Given the description of an element on the screen output the (x, y) to click on. 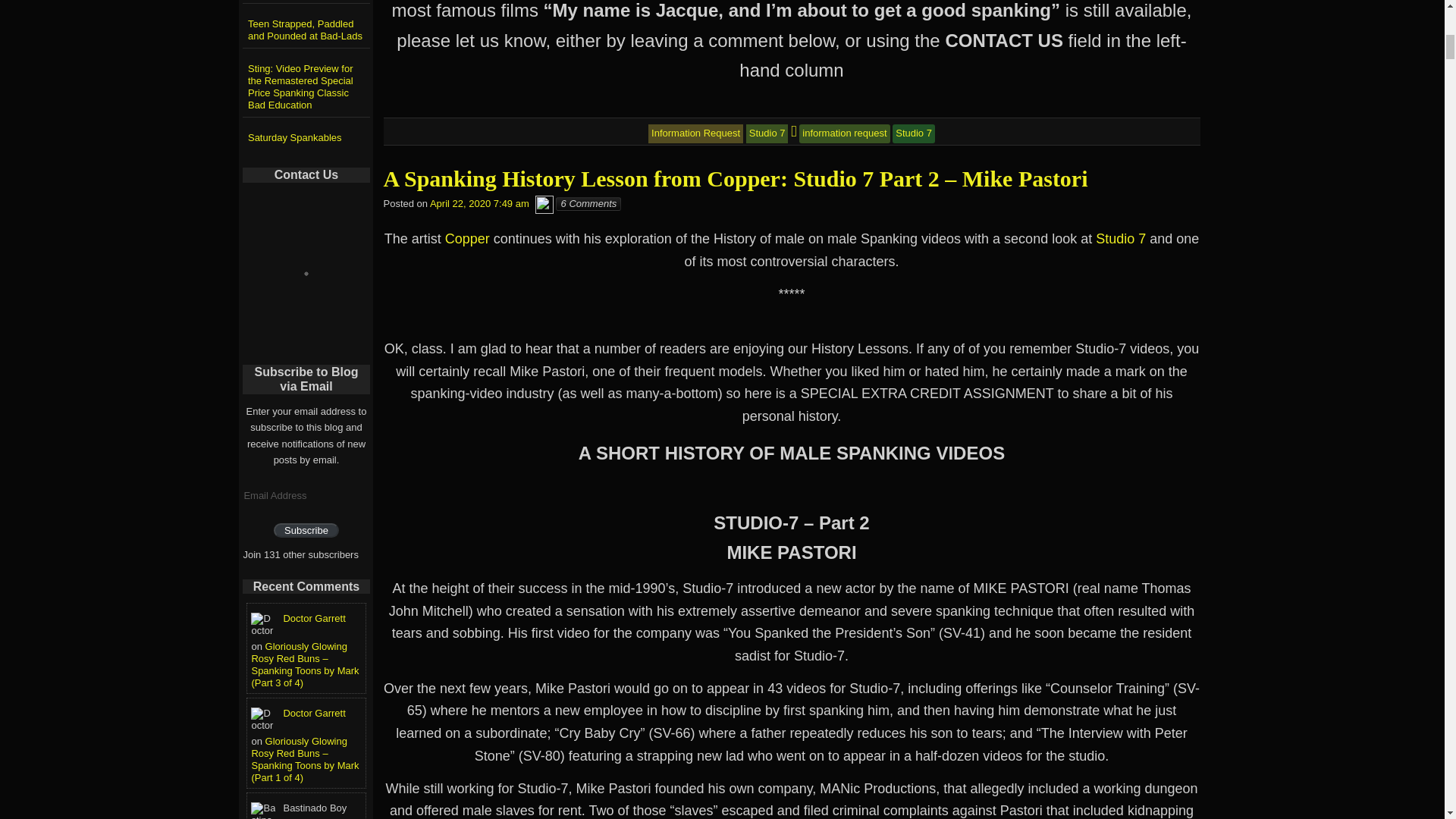
Copper (467, 238)
6 Comments (588, 203)
information request (844, 132)
Studio 7 (767, 132)
Information Request (694, 132)
Ward (544, 203)
Studio 7 (1120, 238)
April 22, 2020 7:49 am (479, 203)
Studio 7 (913, 132)
